Given the description of an element on the screen output the (x, y) to click on. 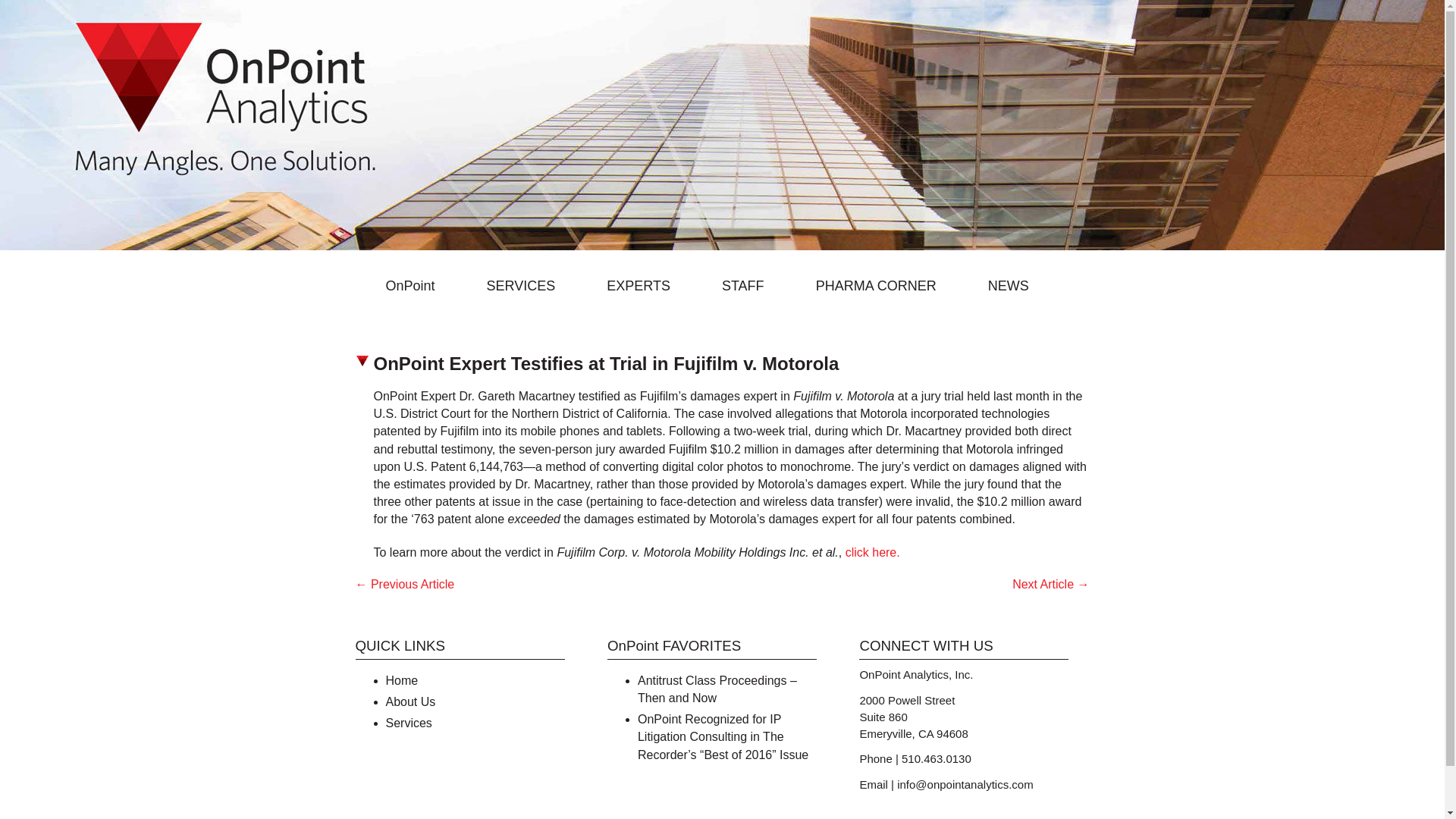
Home (401, 680)
OnPoint (418, 285)
About Us (410, 701)
SERVICES (529, 285)
PHARMA CORNER (885, 285)
NEWS (1017, 285)
Services (407, 722)
click here. (872, 552)
STAFF (752, 285)
EXPERTS (647, 285)
